Given the description of an element on the screen output the (x, y) to click on. 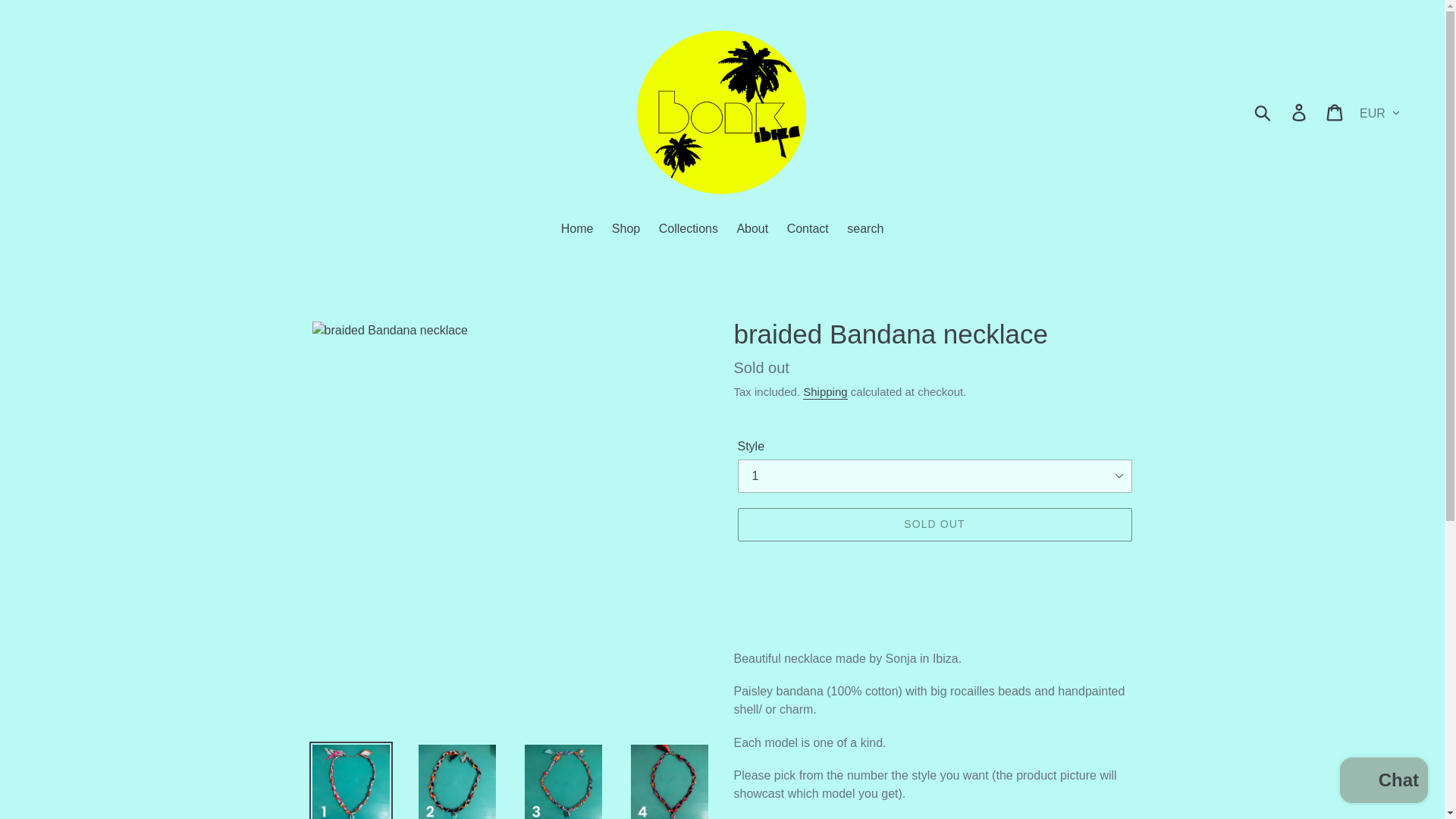
Shipping (825, 391)
search (865, 230)
Home (577, 230)
Collections (687, 230)
Submit (1263, 111)
Cart (1335, 111)
Contact (806, 230)
SOLD OUT (933, 524)
About (752, 230)
Log in (1299, 111)
